Given the description of an element on the screen output the (x, y) to click on. 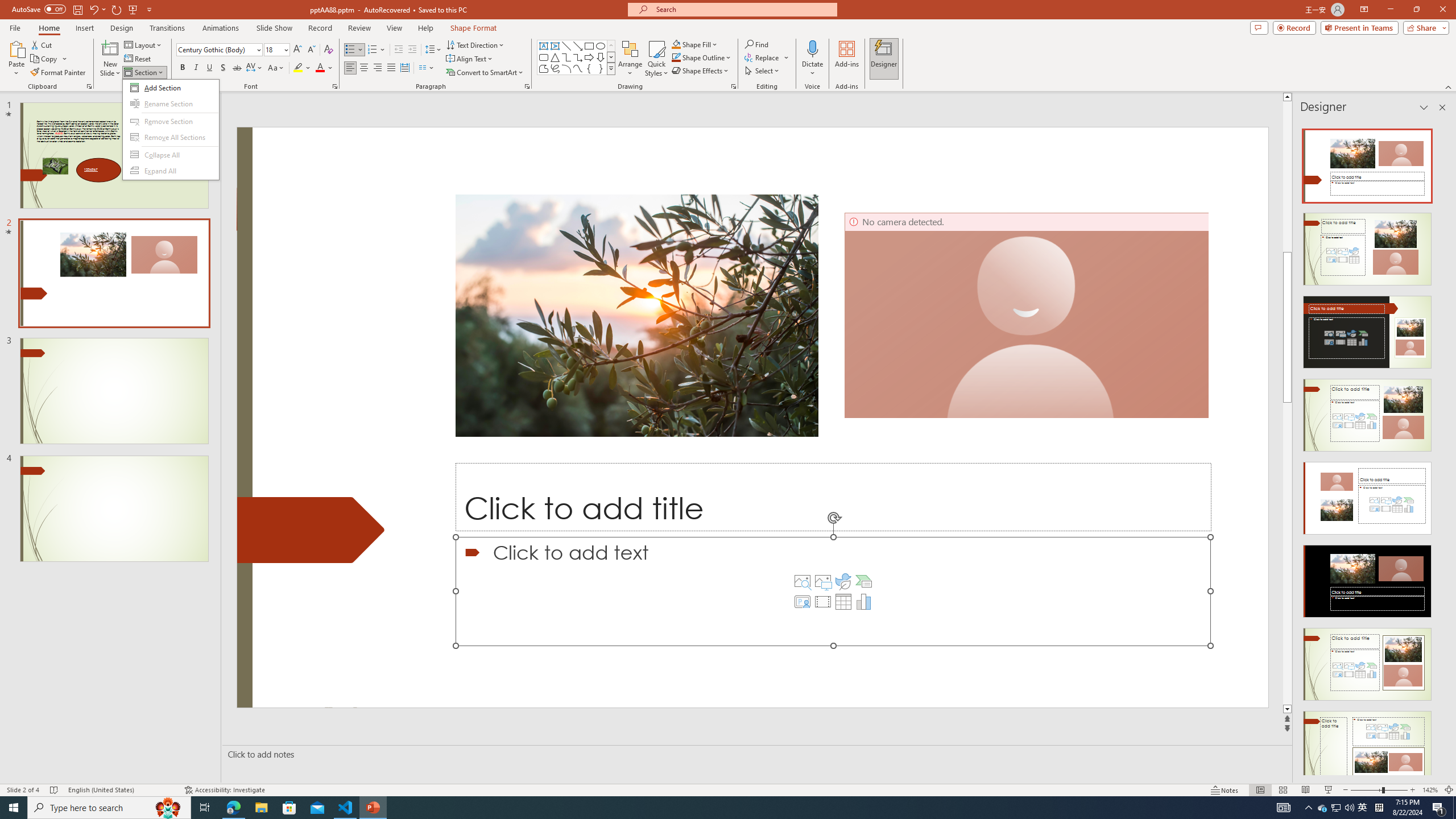
Zoom 142% (1430, 790)
Class: NetUIScrollBar (1441, 447)
